Given the description of an element on the screen output the (x, y) to click on. 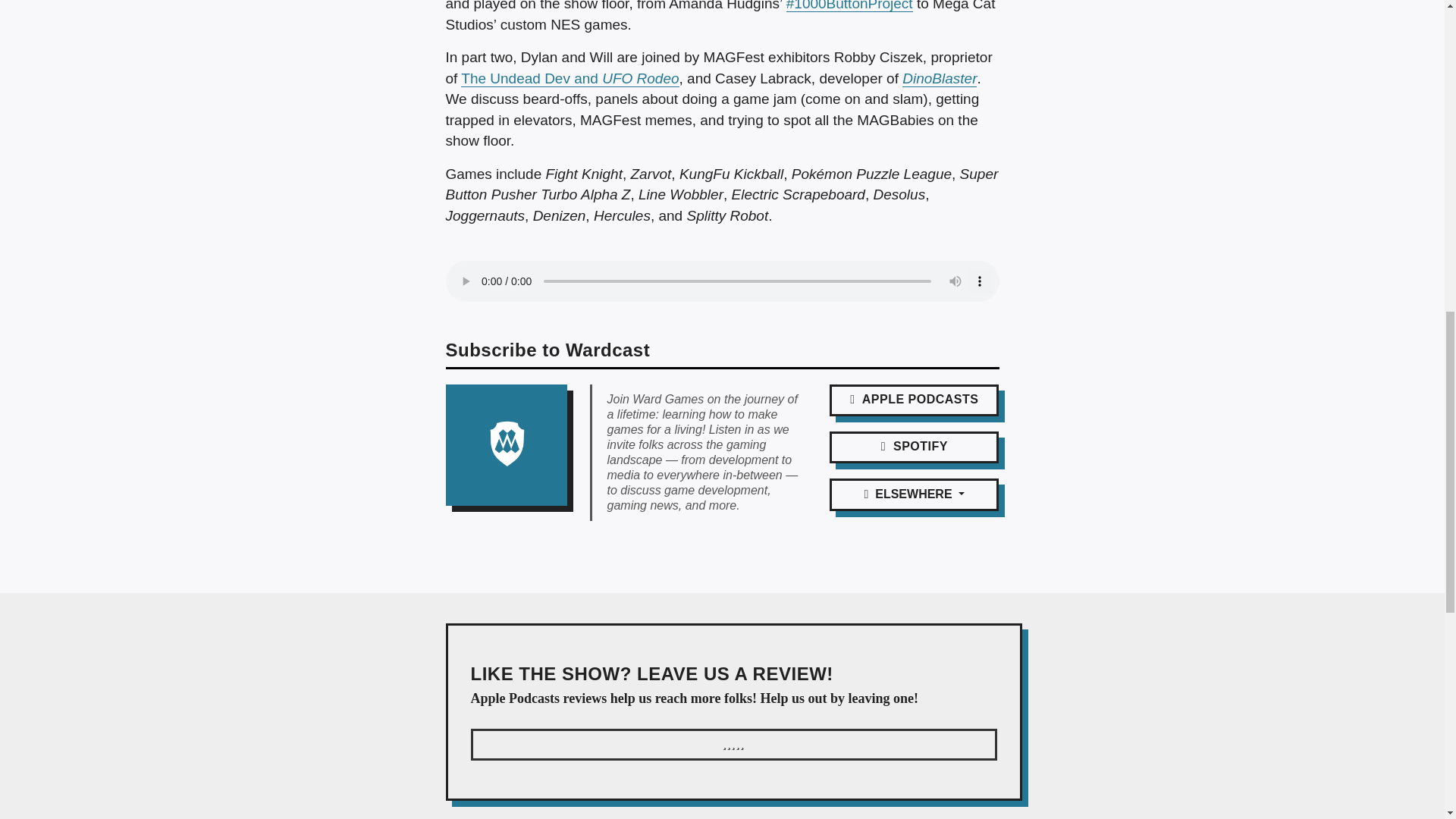
  SPOTIFY (913, 447)
The Undead Dev and UFO Rodeo (569, 78)
  APPLE PODCASTS (913, 400)
DinoBlaster (939, 78)
  ELSEWHERE (913, 494)
